Given the description of an element on the screen output the (x, y) to click on. 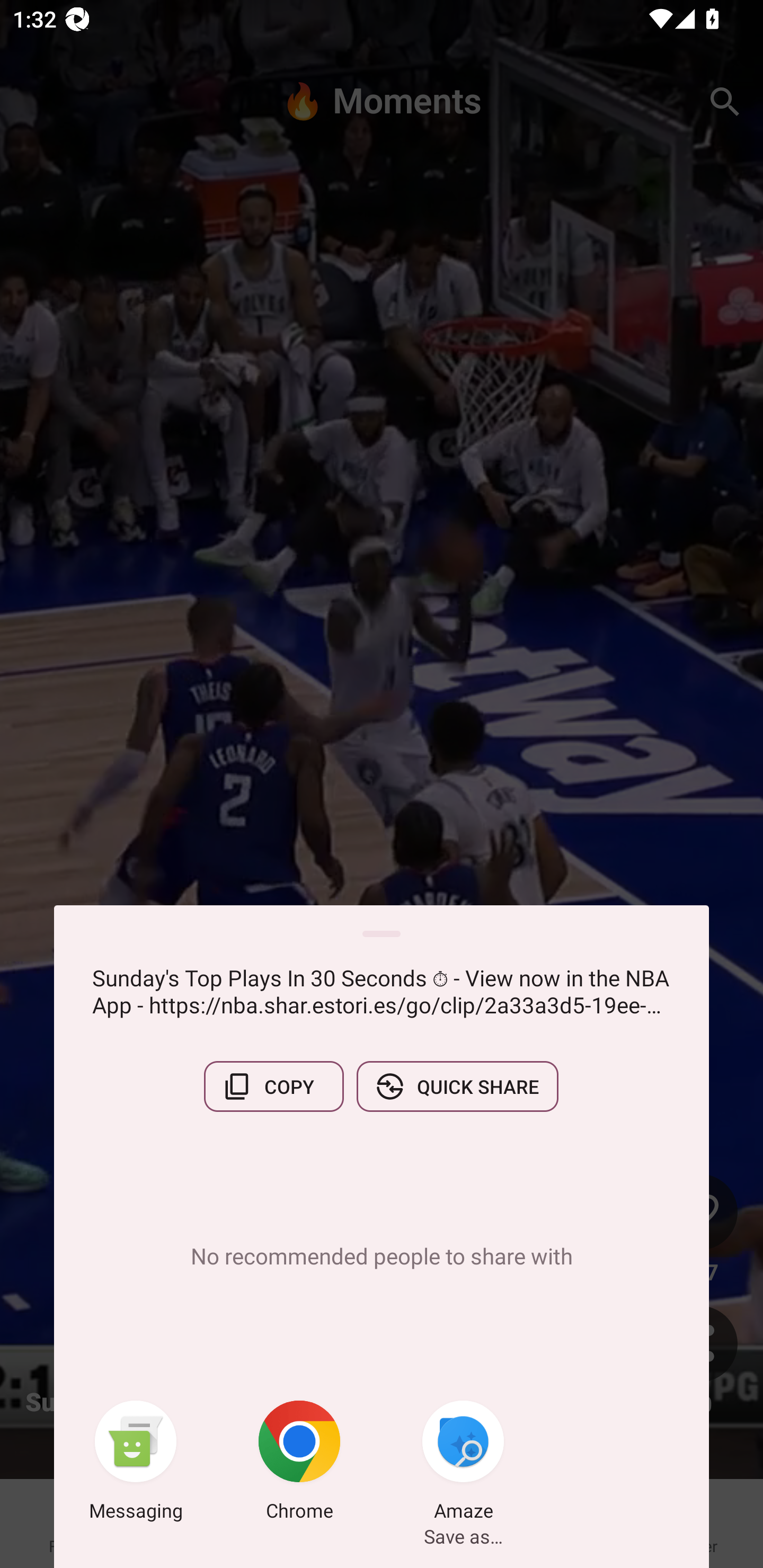
COPY (273, 1086)
QUICK SHARE (457, 1086)
Messaging (135, 1463)
Chrome (299, 1463)
Amaze Save as… (463, 1463)
